Given the description of an element on the screen output the (x, y) to click on. 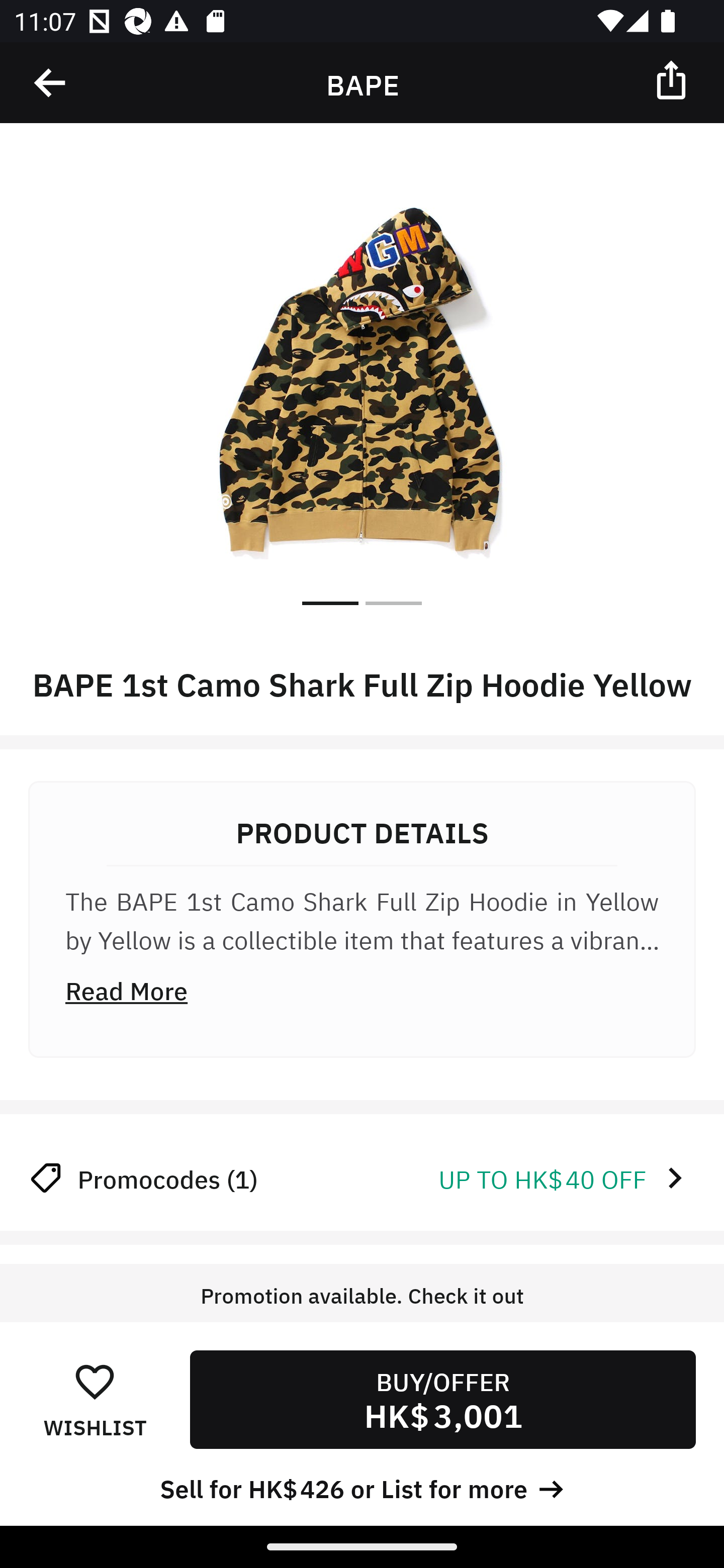
 (50, 83)
 (672, 79)
Promocodes (1) UP TO HK$ 40 OFF  (361, 1178)
BUY/OFFER HK$ 3,001 (442, 1399)
󰋕 (94, 1380)
Sell for HK$ 426 or List for more (361, 1486)
